Given the description of an element on the screen output the (x, y) to click on. 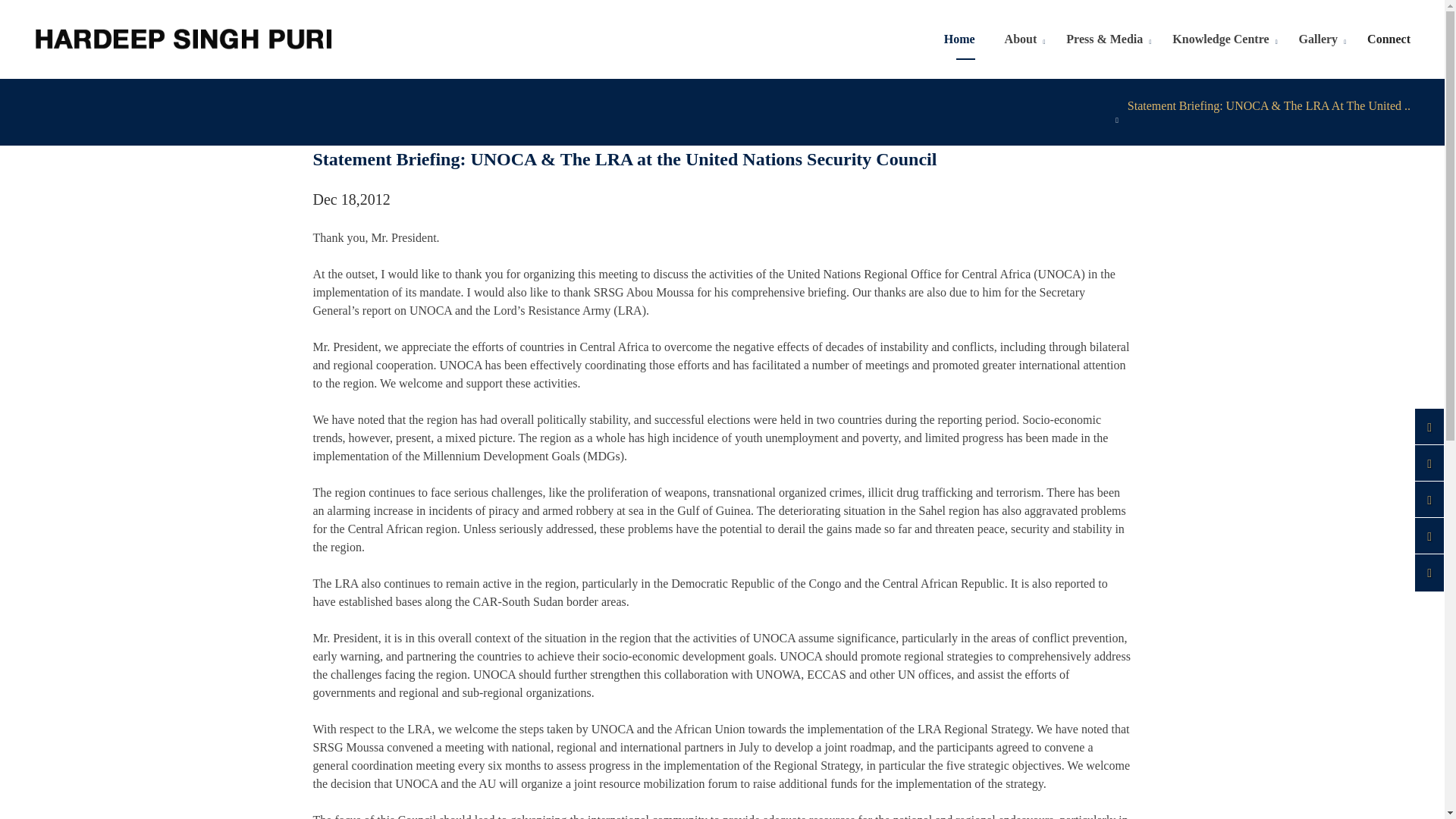
Connect (1388, 39)
Knowledge Centre (1220, 39)
Gallery (1318, 39)
Home (959, 39)
About (1020, 39)
